Given the description of an element on the screen output the (x, y) to click on. 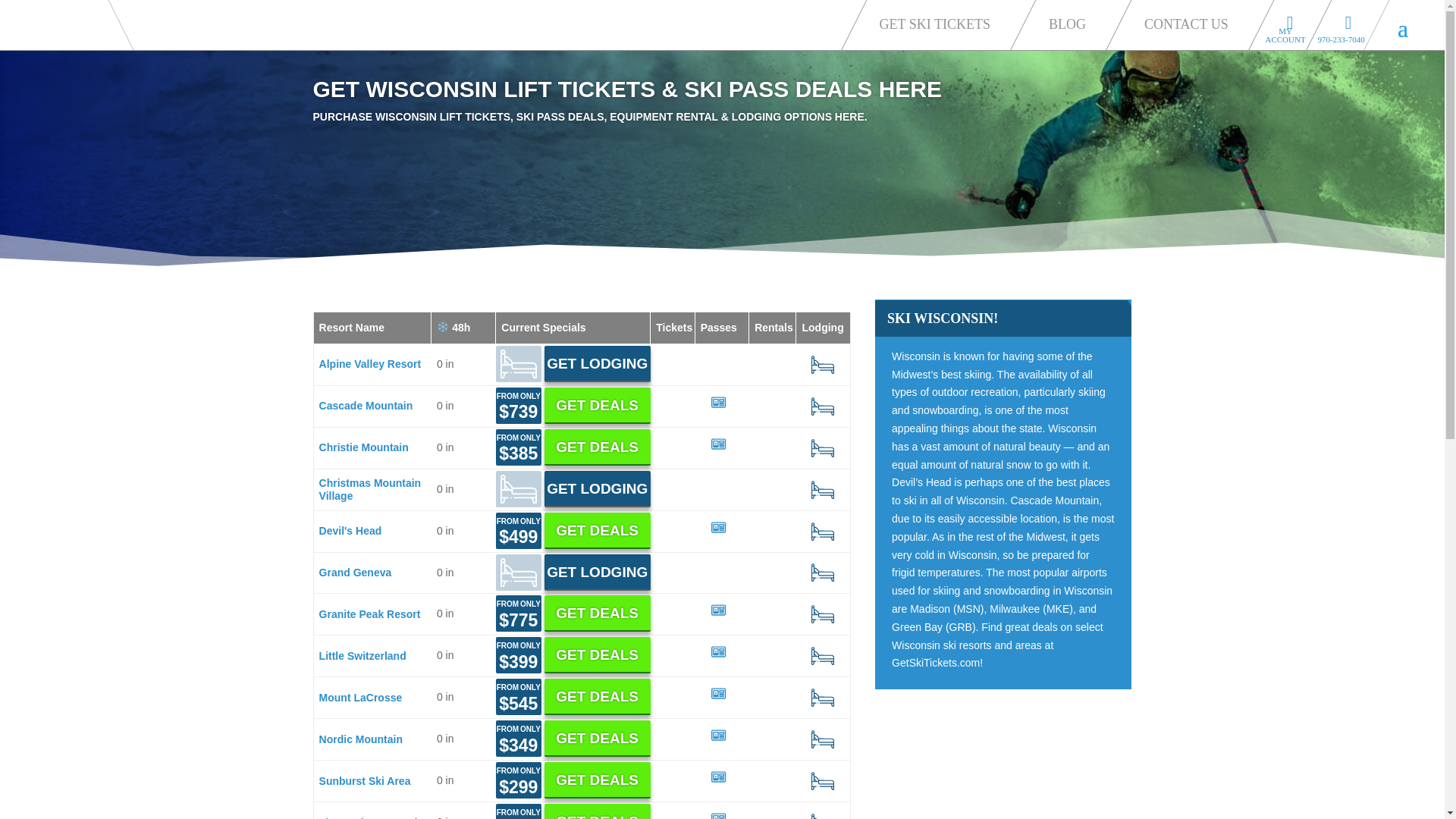
Cascade Mountain (365, 405)
GET DEALS (597, 613)
Devil's Head (349, 530)
CONTACT US (1190, 22)
BLOG (1071, 22)
9 (822, 406)
Grand Geneva (354, 572)
1 (722, 406)
10 (822, 364)
GET SKI TICKETS (938, 22)
1 (722, 655)
16 (822, 531)
17 (822, 655)
Alpine Valley Resort (370, 363)
GET DEALS (597, 405)
